Given the description of an element on the screen output the (x, y) to click on. 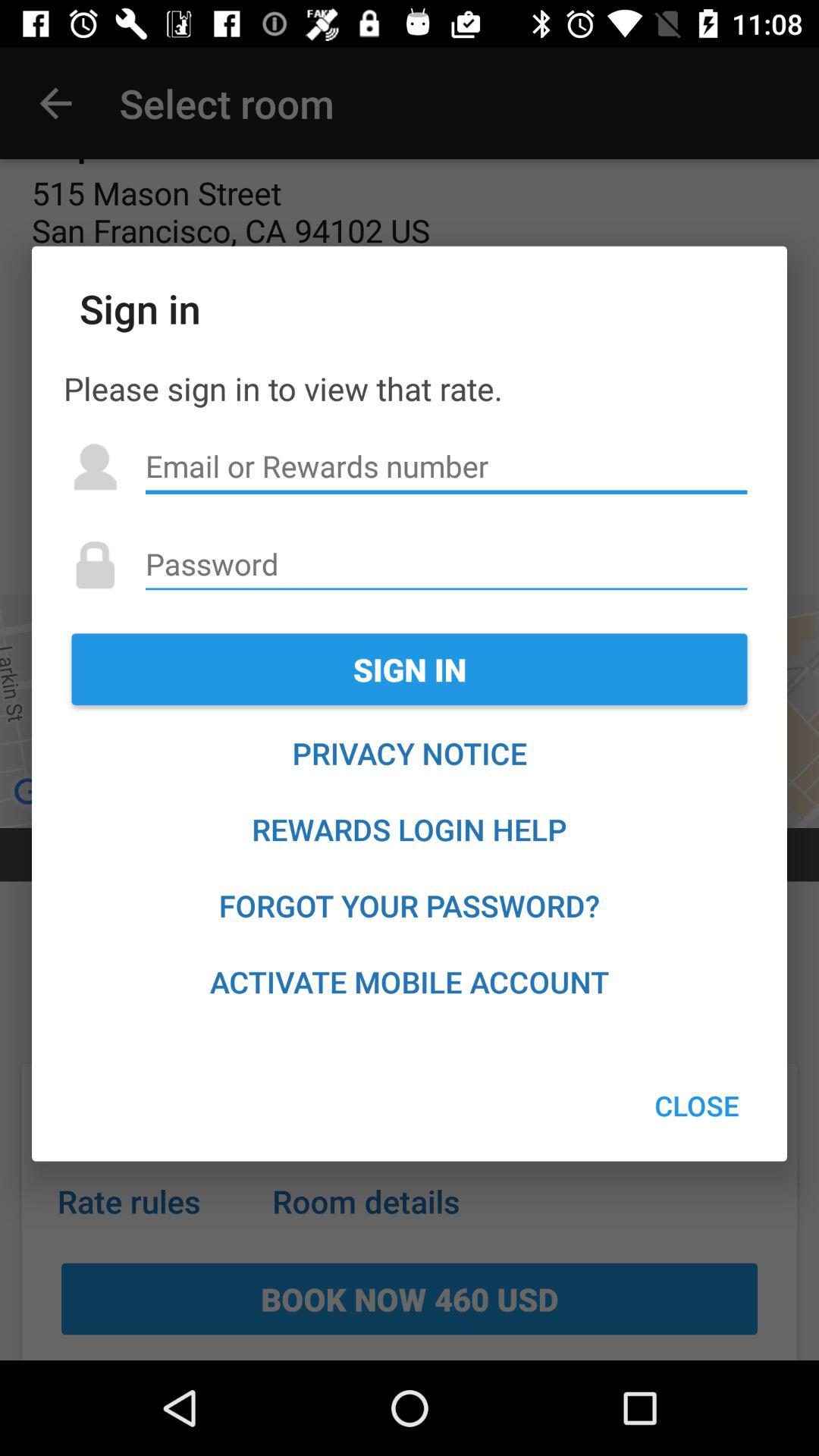
scroll until activate mobile account (409, 981)
